Given the description of an element on the screen output the (x, y) to click on. 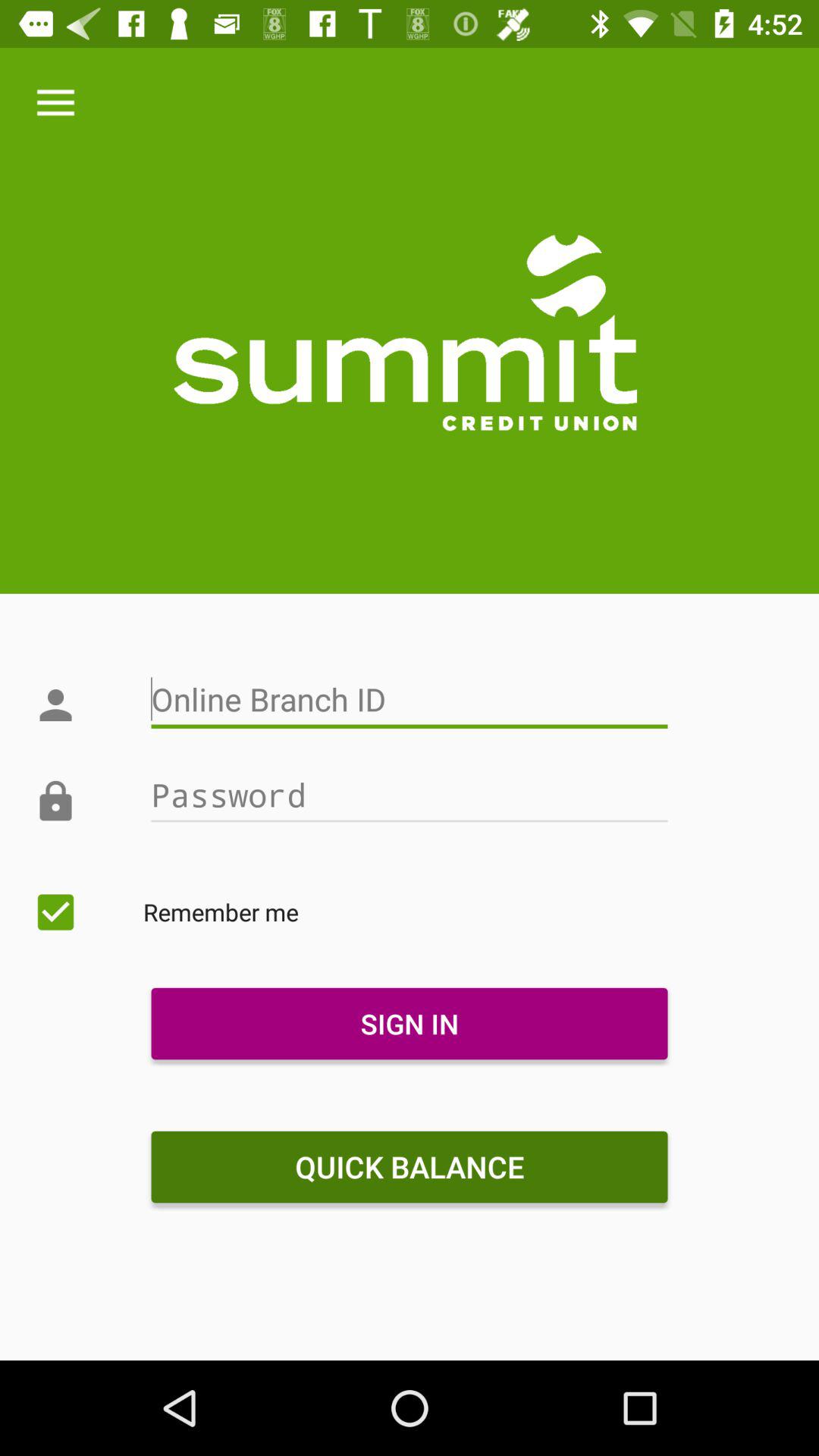
jump until sign in (409, 1023)
